Given the description of an element on the screen output the (x, y) to click on. 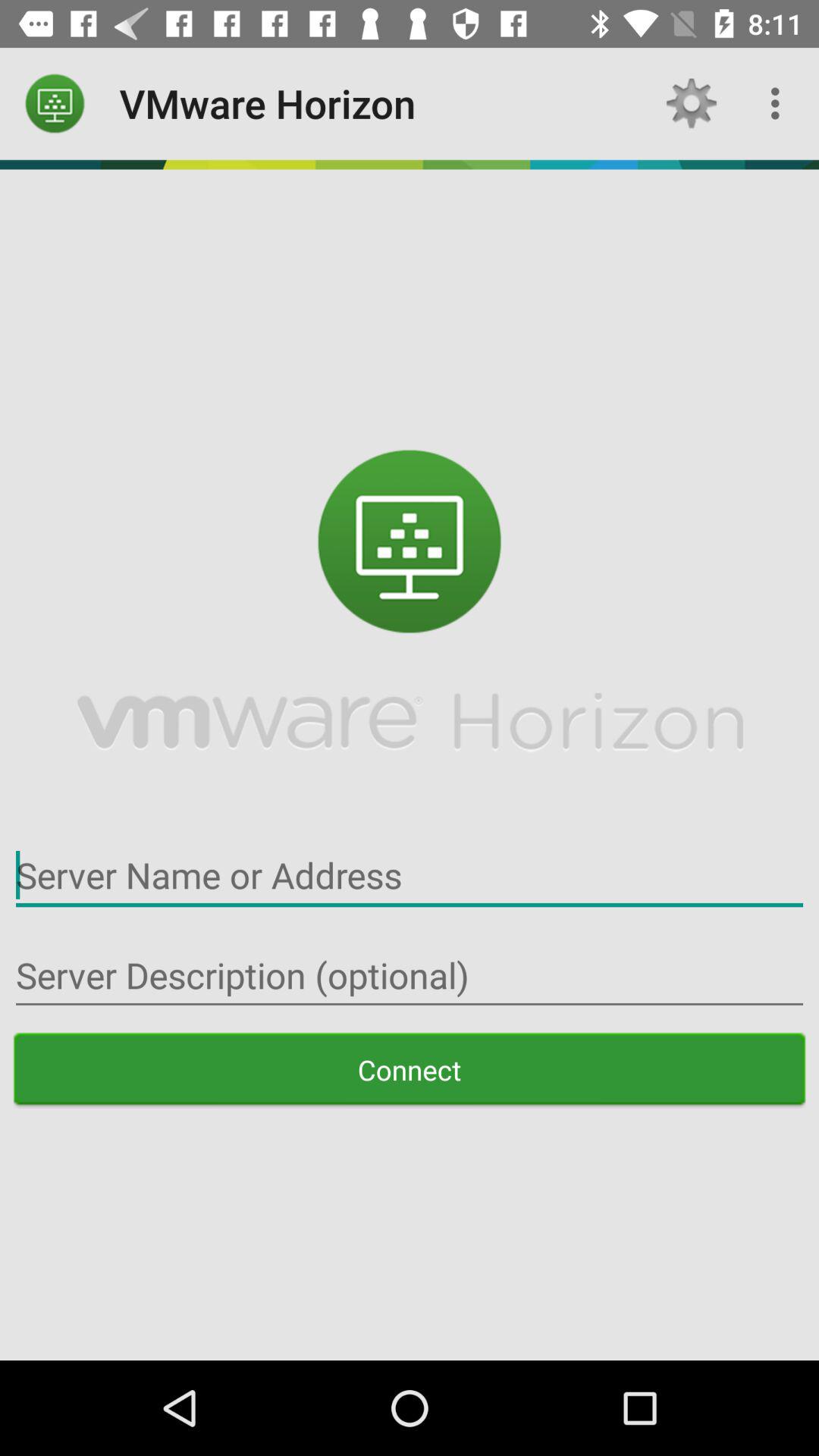
click the item to the left of vmware horizon item (55, 103)
